Given the description of an element on the screen output the (x, y) to click on. 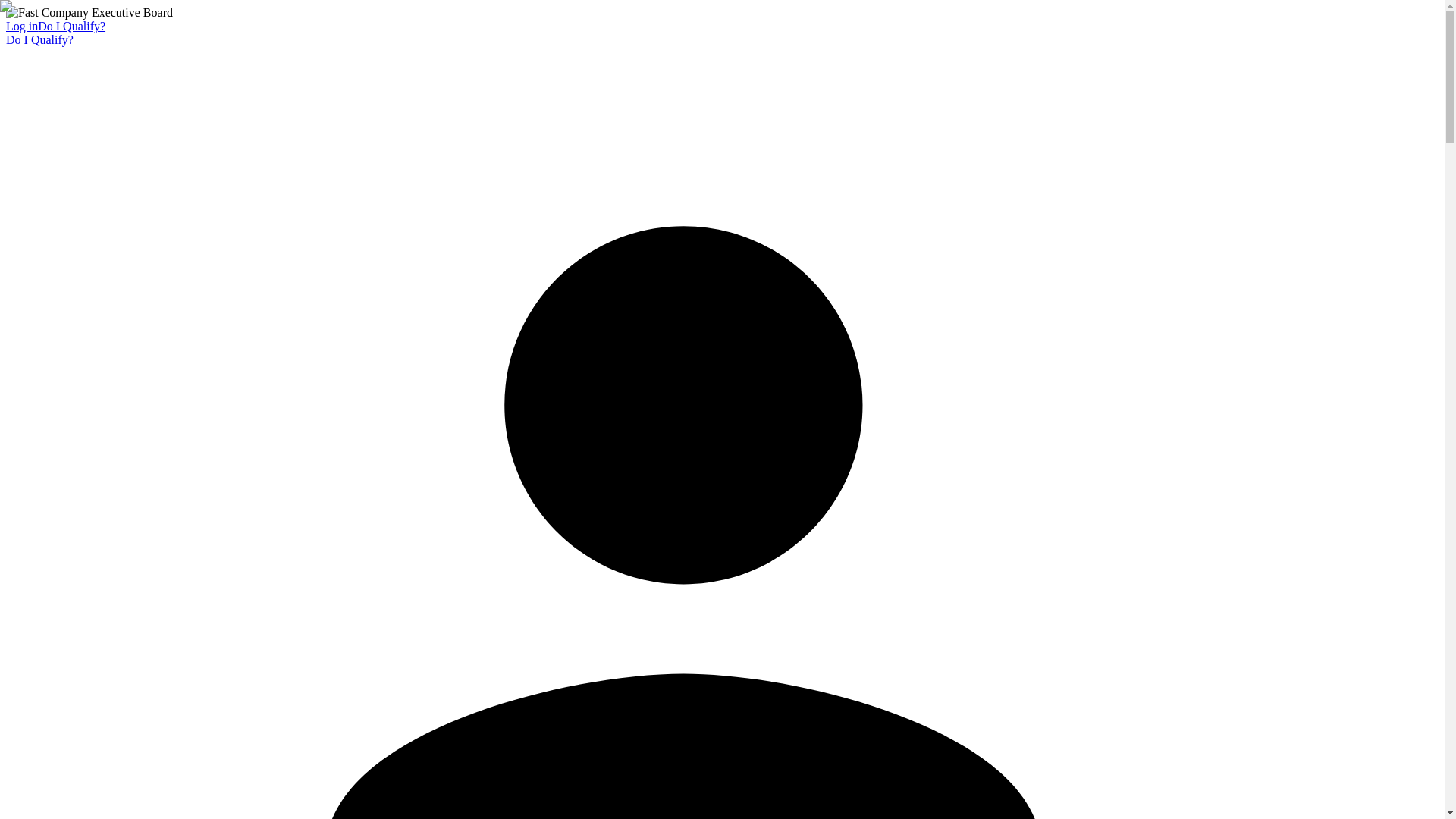
Do I Qualify? (70, 25)
Do I Qualify? (39, 39)
Log in (21, 25)
